Given the description of an element on the screen output the (x, y) to click on. 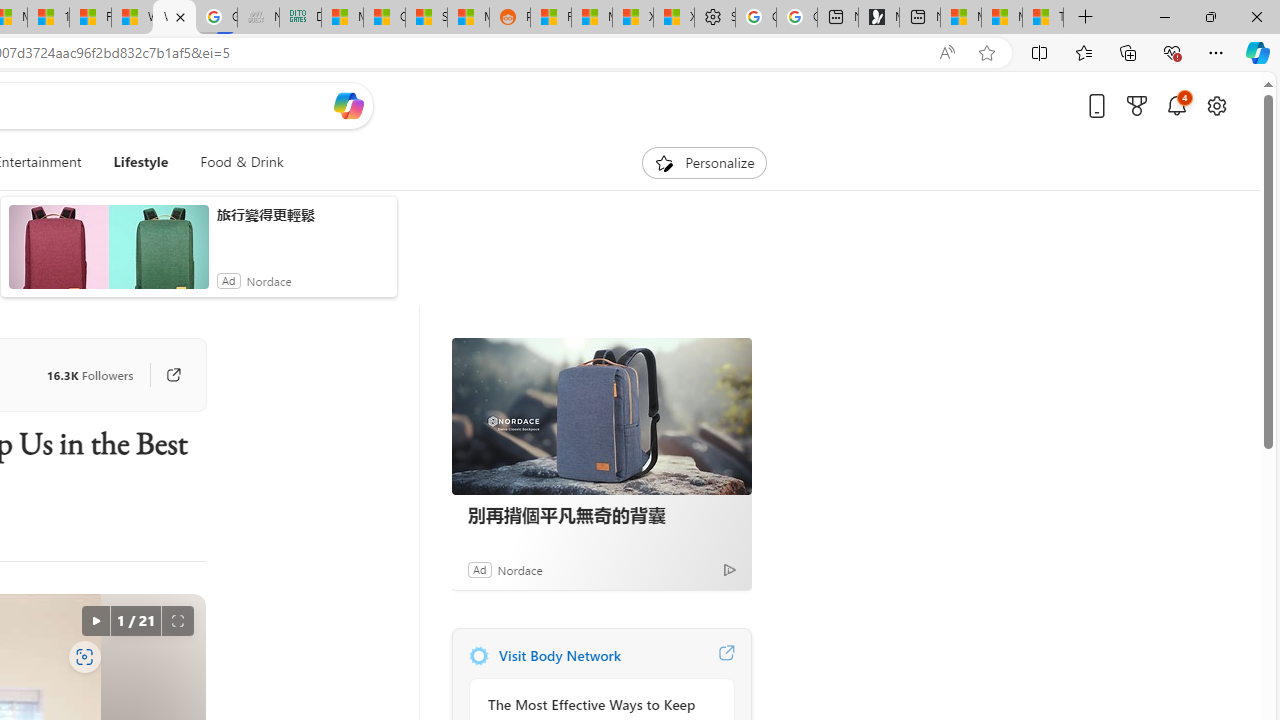
R******* | Trusted Community Engagement and Contributions (550, 17)
Full screen (177, 620)
